Given the description of an element on the screen output the (x, y) to click on. 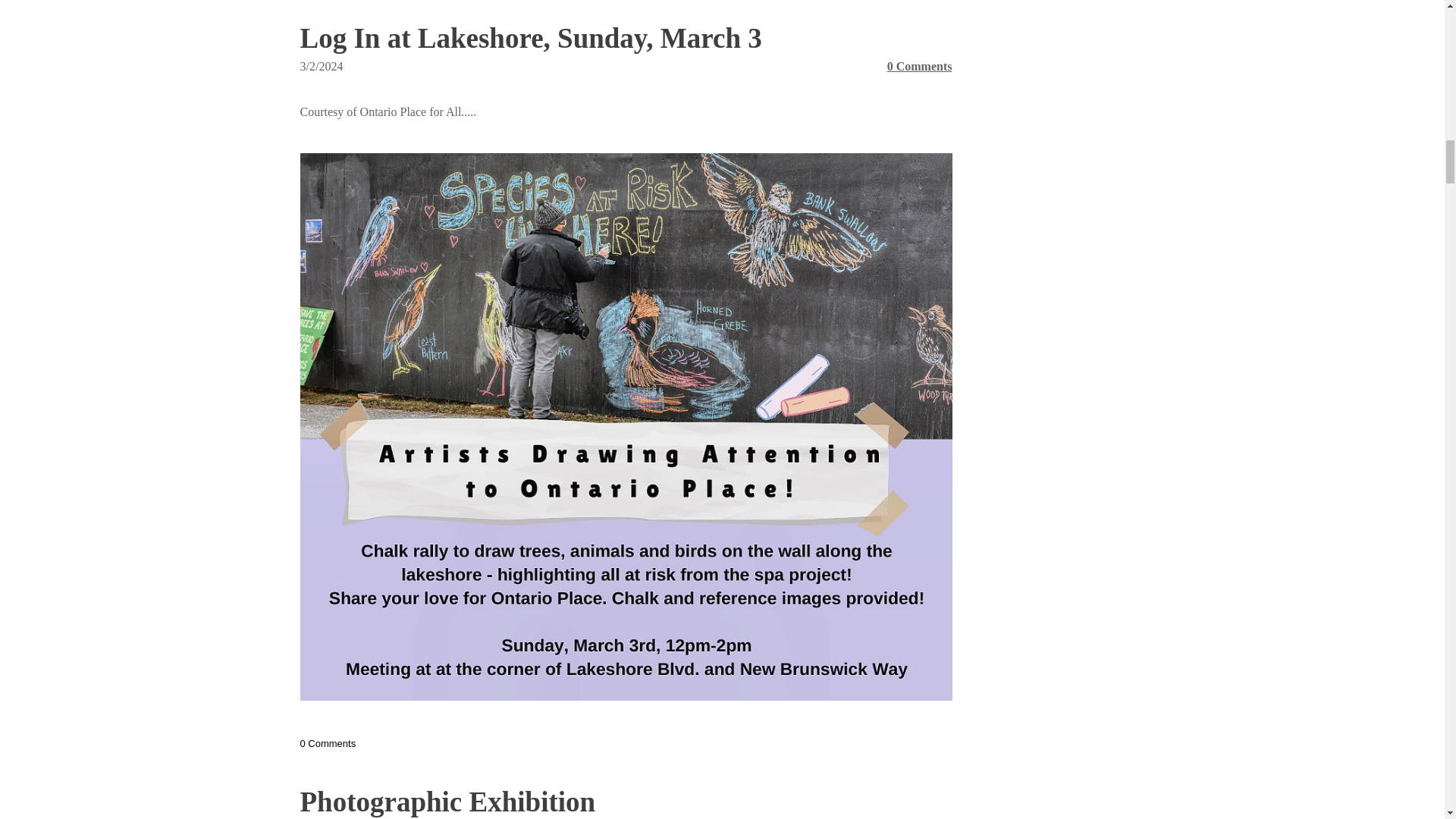
0 Comments (327, 743)
0 Comments (919, 65)
Photographic Exhibition (447, 801)
Log In at Lakeshore, Sunday, March 3 (530, 38)
